Given the description of an element on the screen output the (x, y) to click on. 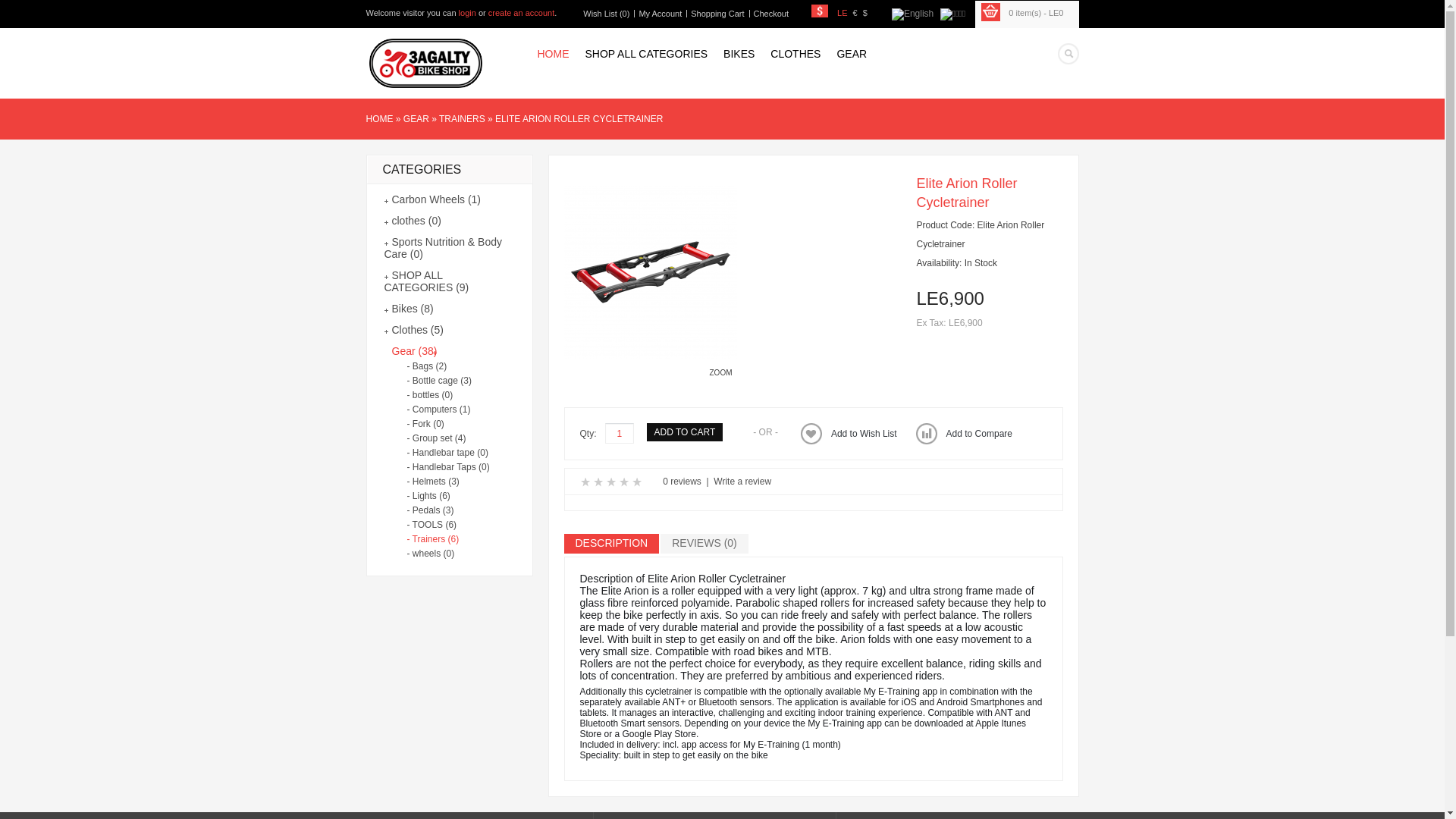
SHOP ALL CATEGORIES Element type: text (637, 53)
- Lights (6) Element type: text (447, 495)
ZOOM Element type: text (650, 381)
DESCRIPTION Element type: text (611, 543)
Sports Nutrition & Body Care (0) Element type: text (442, 247)
$ Element type: text (865, 12)
- Group set (4) Element type: text (447, 438)
clothes (0) Element type: text (411, 220)
Bikes (8) Element type: text (408, 308)
Checkout Element type: text (768, 13)
English Element type: hover (912, 14)
HOME Element type: text (378, 118)
ADD TO CART Element type: text (684, 432)
- Handlebar tape (0) Element type: text (447, 452)
Clothes (5) Element type: text (412, 329)
- Bags (2) Element type: text (447, 365)
Wish List (0) Element type: text (604, 13)
Add to Compare Element type: text (964, 433)
create an account Element type: text (521, 12)
BIKES Element type: text (730, 53)
ELITE ARION ROLLER CYCLETRAINER Element type: text (578, 118)
- TOOLS (6) Element type: text (447, 524)
- Pedals (3) Element type: text (447, 510)
CLOTHES Element type: text (787, 53)
TRAINERS Element type: text (462, 118)
- Bottle cage (3) Element type: text (447, 380)
LE Element type: text (841, 12)
3AGALTY BIKE SHOP Element type: hover (424, 64)
Shopping Cart Element type: text (714, 13)
GEAR Element type: text (416, 118)
- bottles (0) Element type: text (447, 394)
Search Element type: hover (1067, 53)
My Account Element type: text (657, 13)
HOME Element type: text (545, 53)
login Element type: text (467, 12)
- Handlebar Taps (0) Element type: text (447, 466)
GEAR Element type: text (843, 53)
REVIEWS (0) Element type: text (704, 543)
- Helmets (3) Element type: text (447, 481)
Add to Wish List Element type: text (848, 433)
0 reviews Element type: text (681, 481)
- wheels (0) Element type: text (447, 553)
Carbon Wheels (1) Element type: text (431, 199)
Write a review Element type: text (742, 481)
Elite Arion Roller Cycletrainer Element type: hover (650, 271)
- Trainers (6) Element type: text (447, 538)
SHOP ALL CATEGORIES (9) Element type: text (425, 281)
- Computers (1) Element type: text (447, 409)
Elite Arion Roller Cycletrainer Element type: hover (650, 355)
- Fork (0) Element type: text (447, 423)
Gear (38) Element type: text (409, 351)
